Given the description of an element on the screen output the (x, y) to click on. 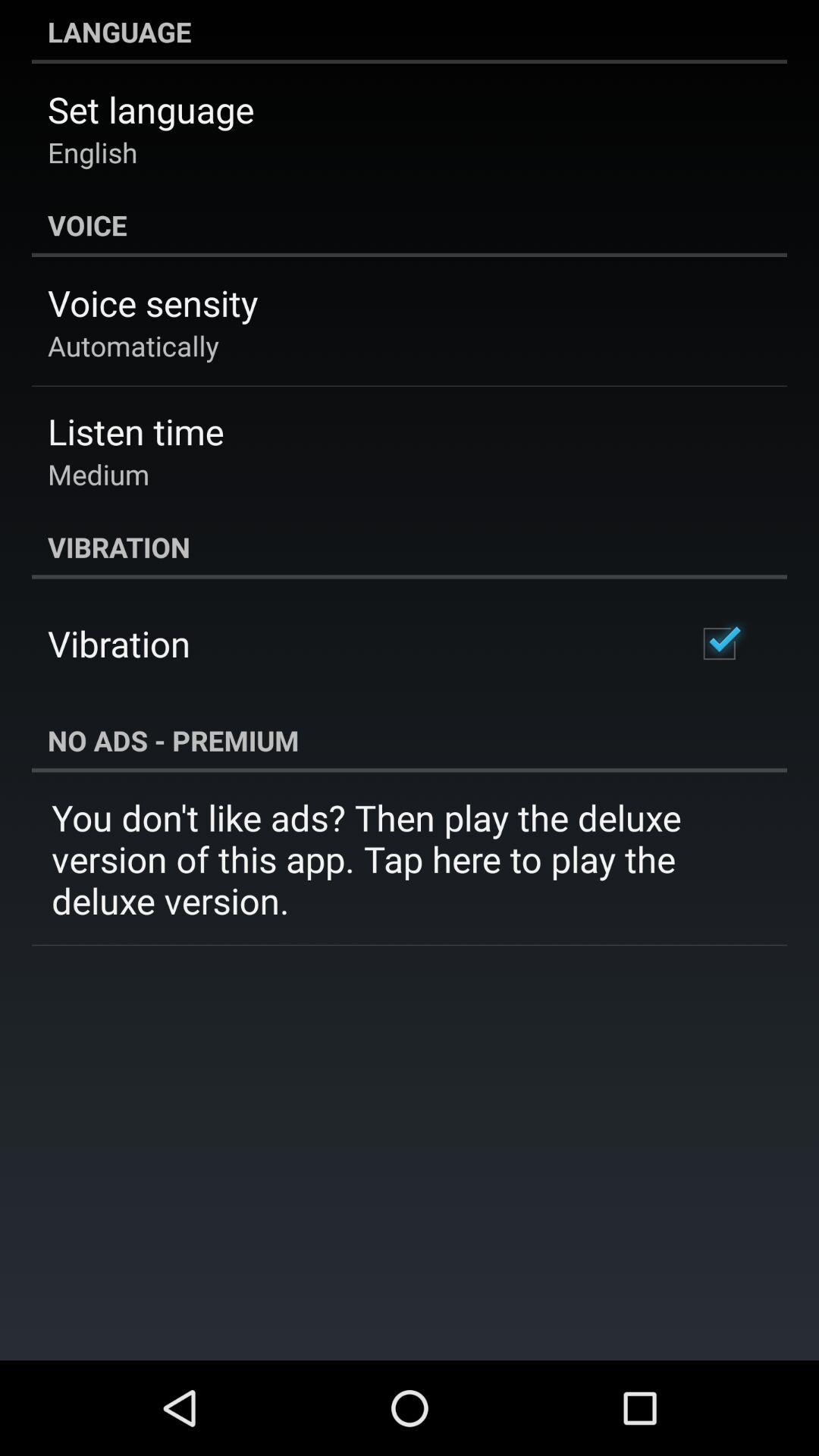
select the you don t app (409, 858)
